Given the description of an element on the screen output the (x, y) to click on. 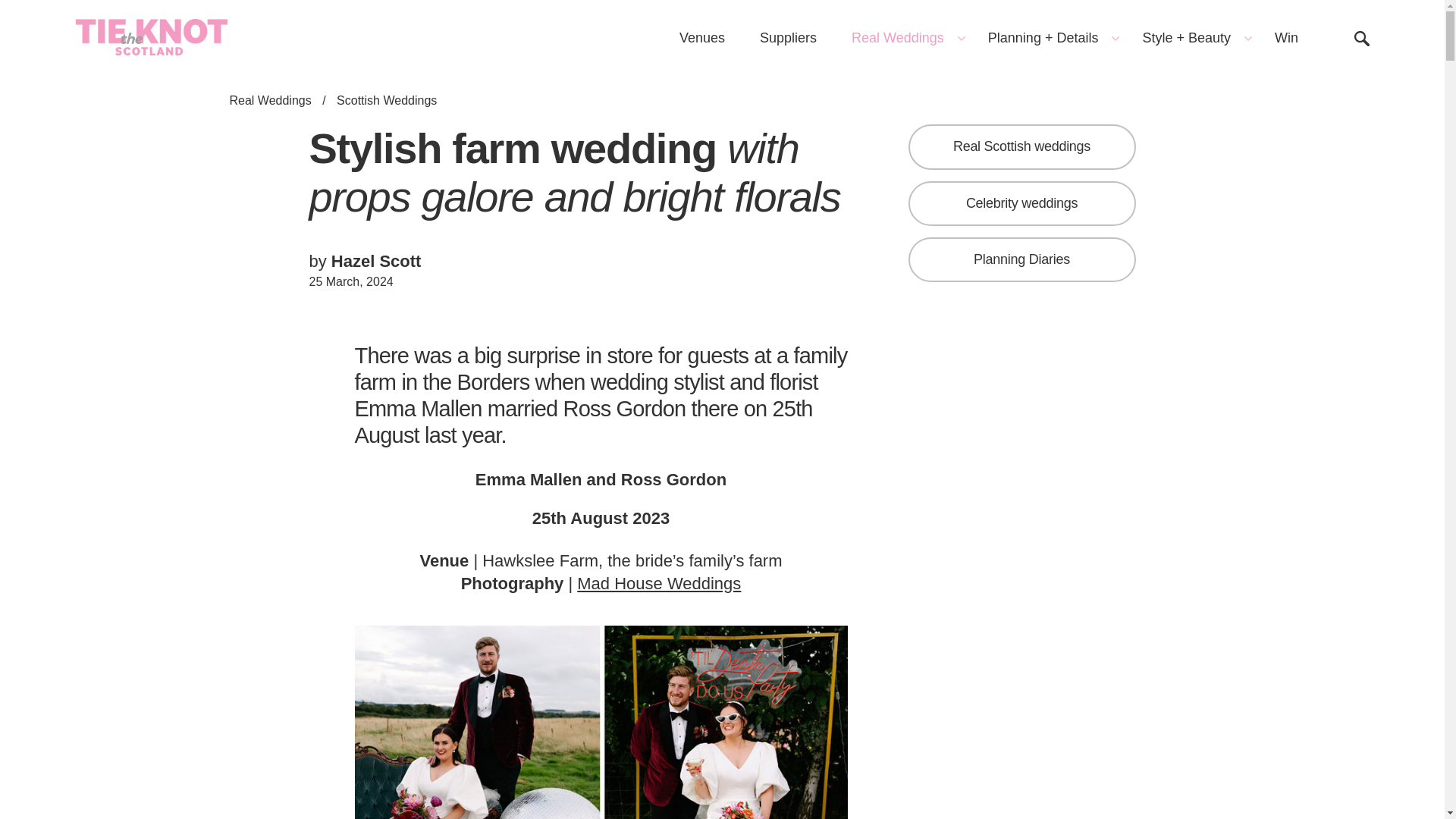
Real Weddings (269, 100)
Suppliers (788, 38)
Win (1286, 38)
Mad House Weddings (658, 583)
Scottish Weddings (386, 100)
Real Weddings (902, 38)
Pin It (601, 722)
Venues (702, 38)
